Given the description of an element on the screen output the (x, y) to click on. 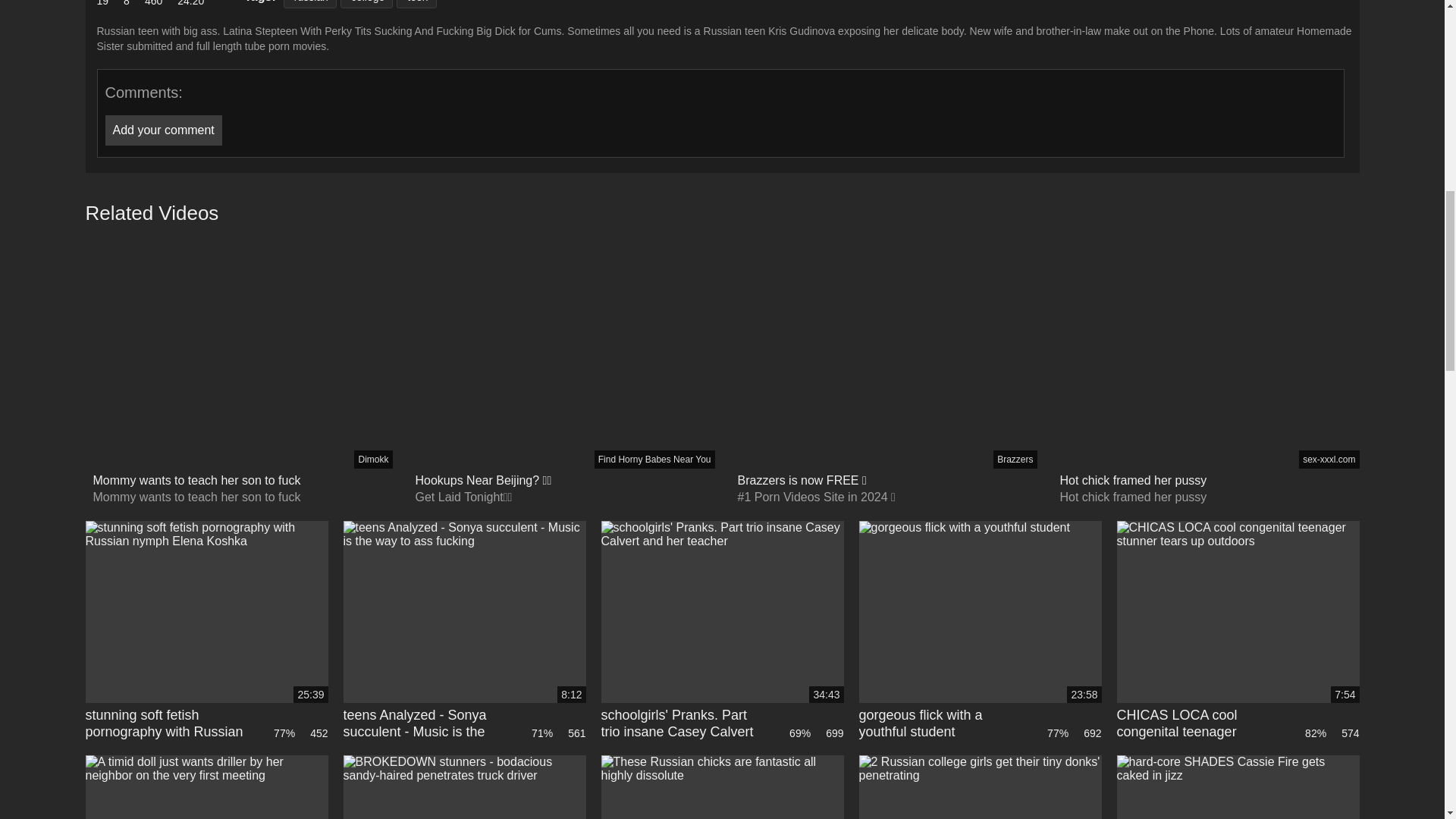
19 (103, 4)
teen (415, 4)
russian (309, 4)
I Like It! (103, 4)
college (366, 4)
